Given the description of an element on the screen output the (x, y) to click on. 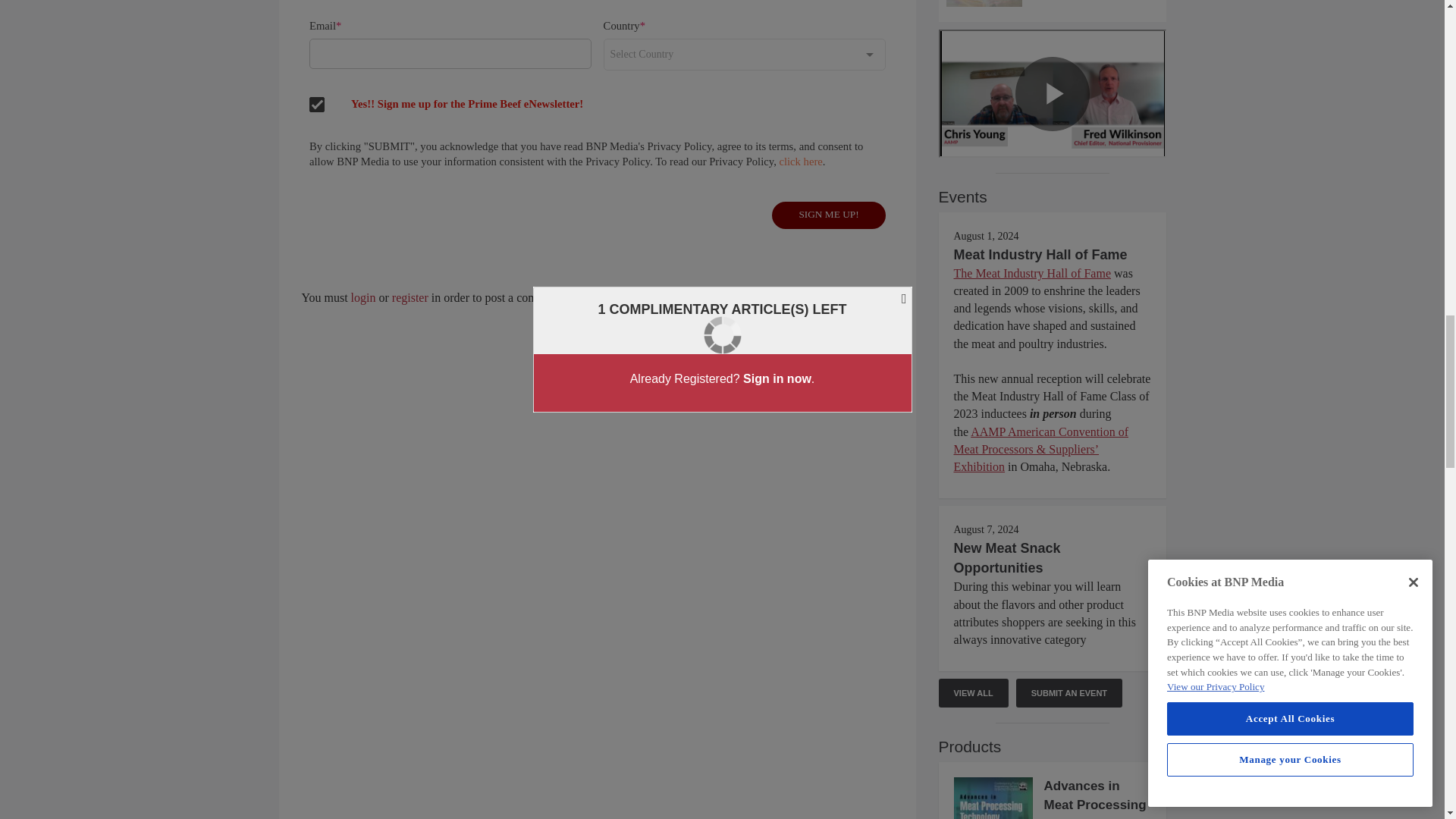
New Meat Snack Opportunities (1007, 557)
Meat Industry Hall of Fame (1039, 254)
Freddy's launches new Prime Steakburger for a limited time (1052, 3)
